Given the description of an element on the screen output the (x, y) to click on. 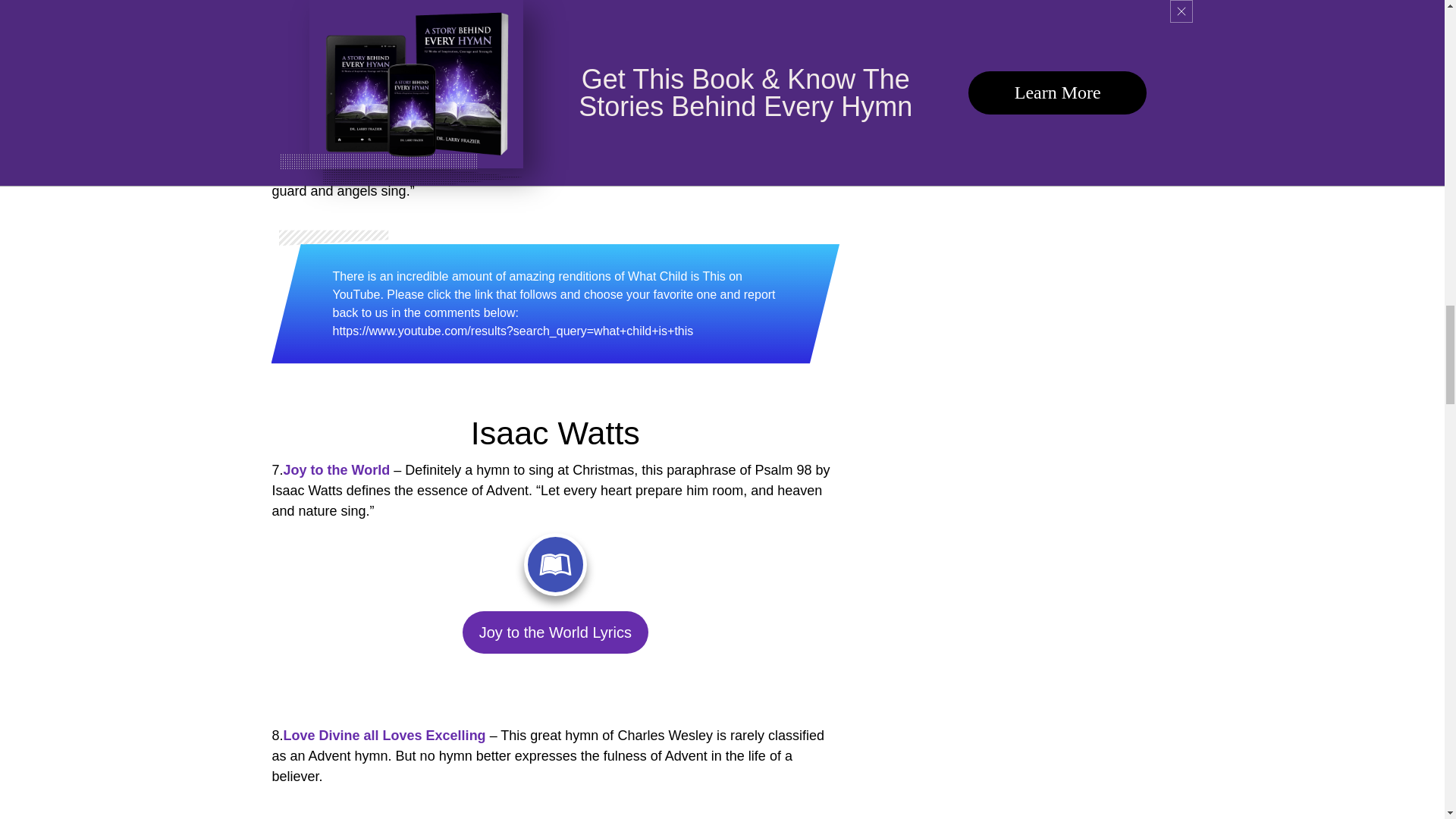
Come, Thou Long-expected Jesus Hymn (554, 33)
Joy to the World Lyrics (555, 632)
